Given the description of an element on the screen output the (x, y) to click on. 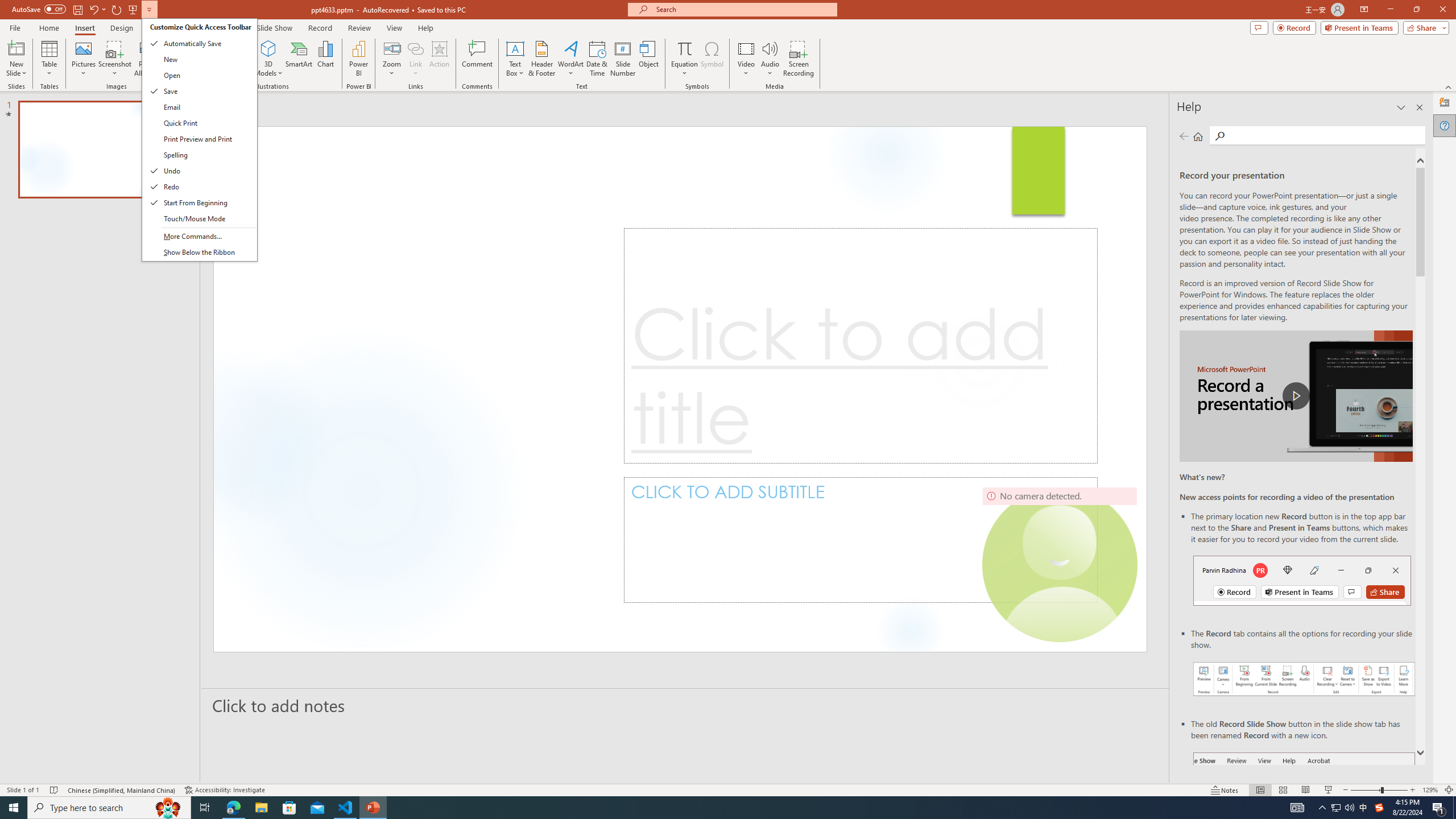
Object... (649, 58)
Power BI (358, 58)
Screen Recording... (798, 58)
Draw Horizontal Text Box (515, 48)
